Given the description of an element on the screen output the (x, y) to click on. 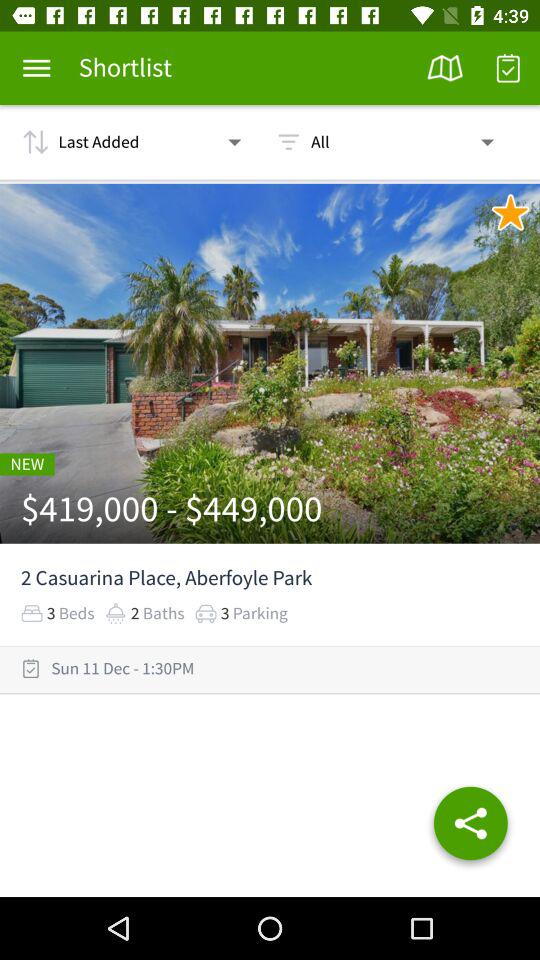
share the hhouse (470, 827)
